Given the description of an element on the screen output the (x, y) to click on. 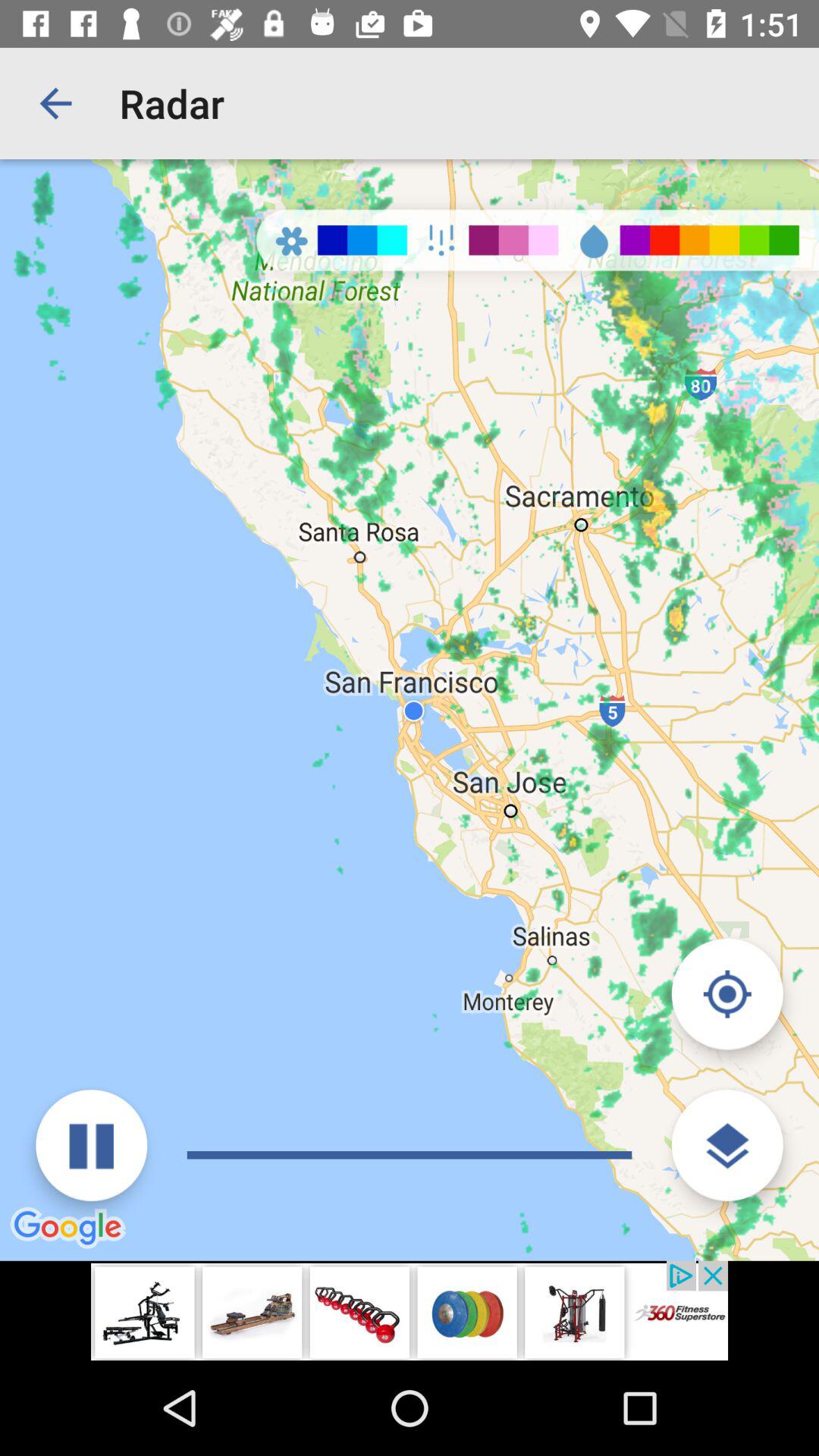
advertisement (409, 1310)
